Given the description of an element on the screen output the (x, y) to click on. 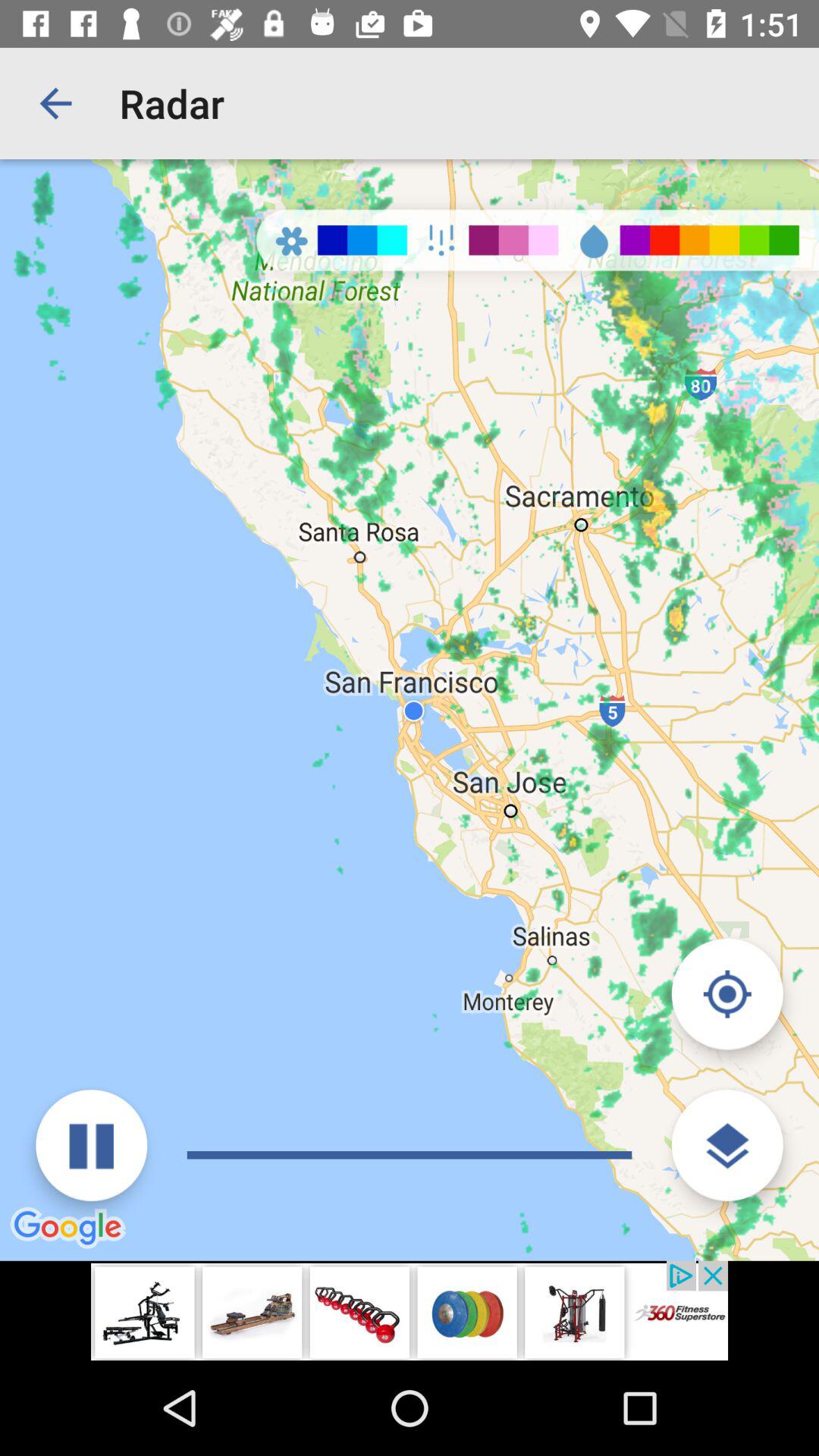
advertisement (409, 1310)
